Given the description of an element on the screen output the (x, y) to click on. 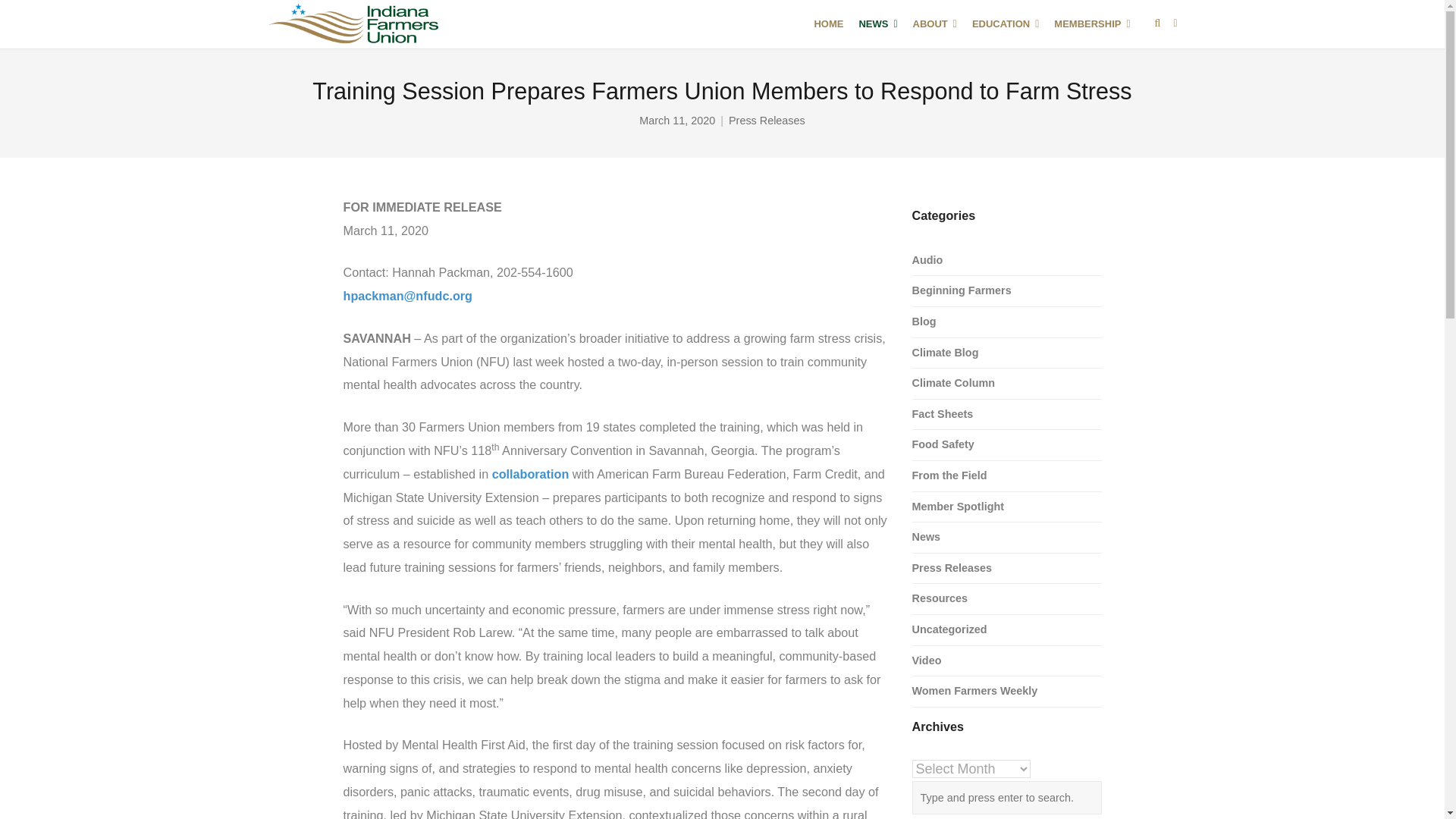
View all posts in Press Releases (767, 120)
